Given the description of an element on the screen output the (x, y) to click on. 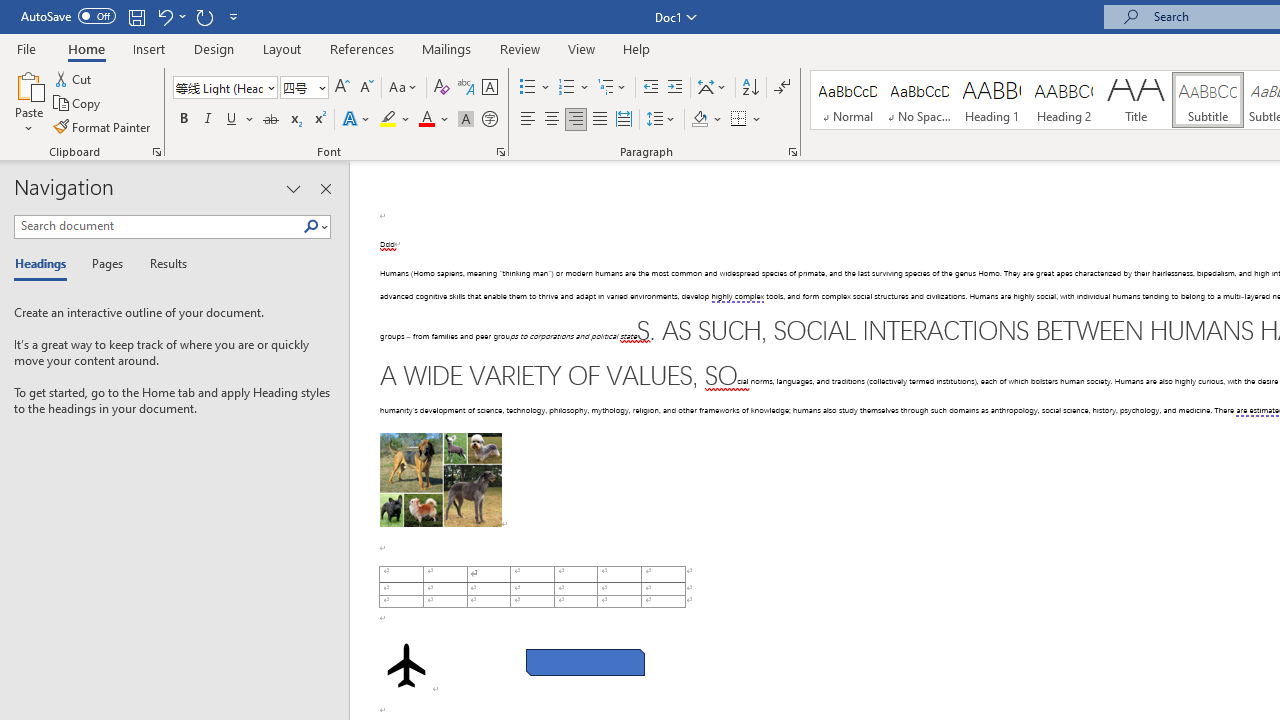
Line and Paragraph Spacing (661, 119)
Enclose Characters... (489, 119)
Copy (78, 103)
Mailings (447, 48)
Format Painter (103, 126)
Airplane with solid fill (406, 665)
Heading 1 (991, 100)
Character Shading (465, 119)
Repeat Paragraph Alignment (204, 15)
Font (224, 87)
Layout (282, 48)
Font (218, 87)
Review (520, 48)
